Given the description of an element on the screen output the (x, y) to click on. 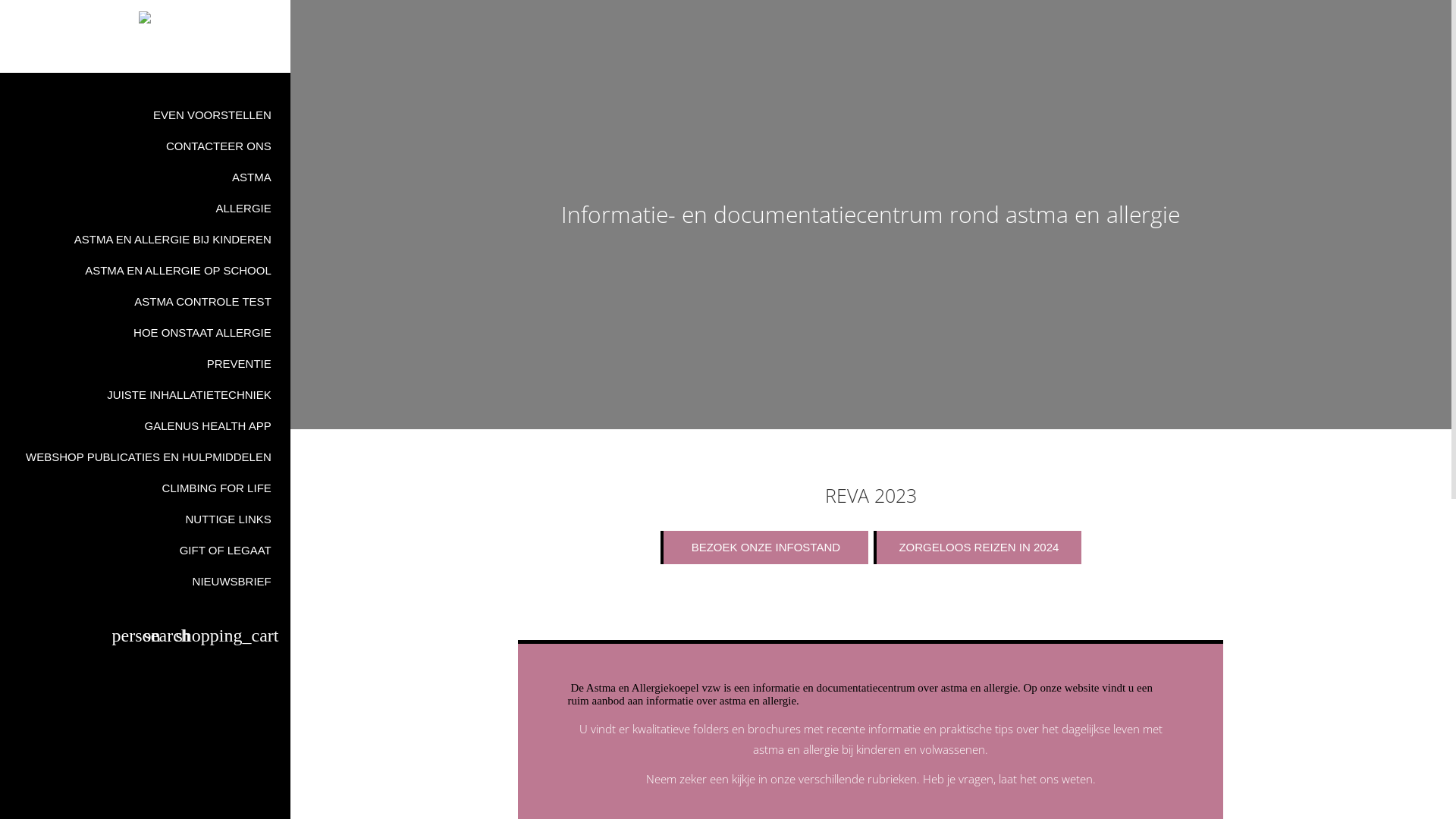
BEZOEK ONZE INFOSTAND Element type: text (764, 547)
PREVENTIE Element type: text (145, 363)
GIFT OF LEGAAT Element type: text (145, 549)
ASTMA Element type: text (145, 176)
JUISTE INHALLATIETECHNIEK Element type: text (145, 394)
GALENUS HEALTH APP Element type: text (145, 425)
NUTTIGE LINKS Element type: text (145, 518)
HOE ONSTAAT ALLERGIE Element type: text (145, 332)
ASTMA CONTROLE TEST Element type: text (145, 300)
ASTMA EN ALLERGIE OP SCHOOL Element type: text (145, 269)
WEBSHOP PUBLICATIES EN HULPMIDDELEN Element type: text (145, 456)
ASTMA EN ALLERGIE BIJ KINDEREN Element type: text (145, 238)
search Element type: text (155, 637)
NIEUWSBRIEF Element type: text (145, 580)
EVEN VOORSTELLEN Element type: text (145, 114)
shopping_cart Element type: text (228, 637)
Astma en Allergiekoepel vzw Facebook Element type: hover (144, 53)
Astma en Allergiekoepel vzw Element type: hover (145, 17)
ZORGELOOS REIZEN IN 2024 Element type: text (977, 547)
CLIMBING FOR LIFE Element type: text (145, 487)
ALLERGIE Element type: text (145, 207)
CONTACTEER ONS Element type: text (145, 145)
person Element type: text (123, 637)
